Given the description of an element on the screen output the (x, y) to click on. 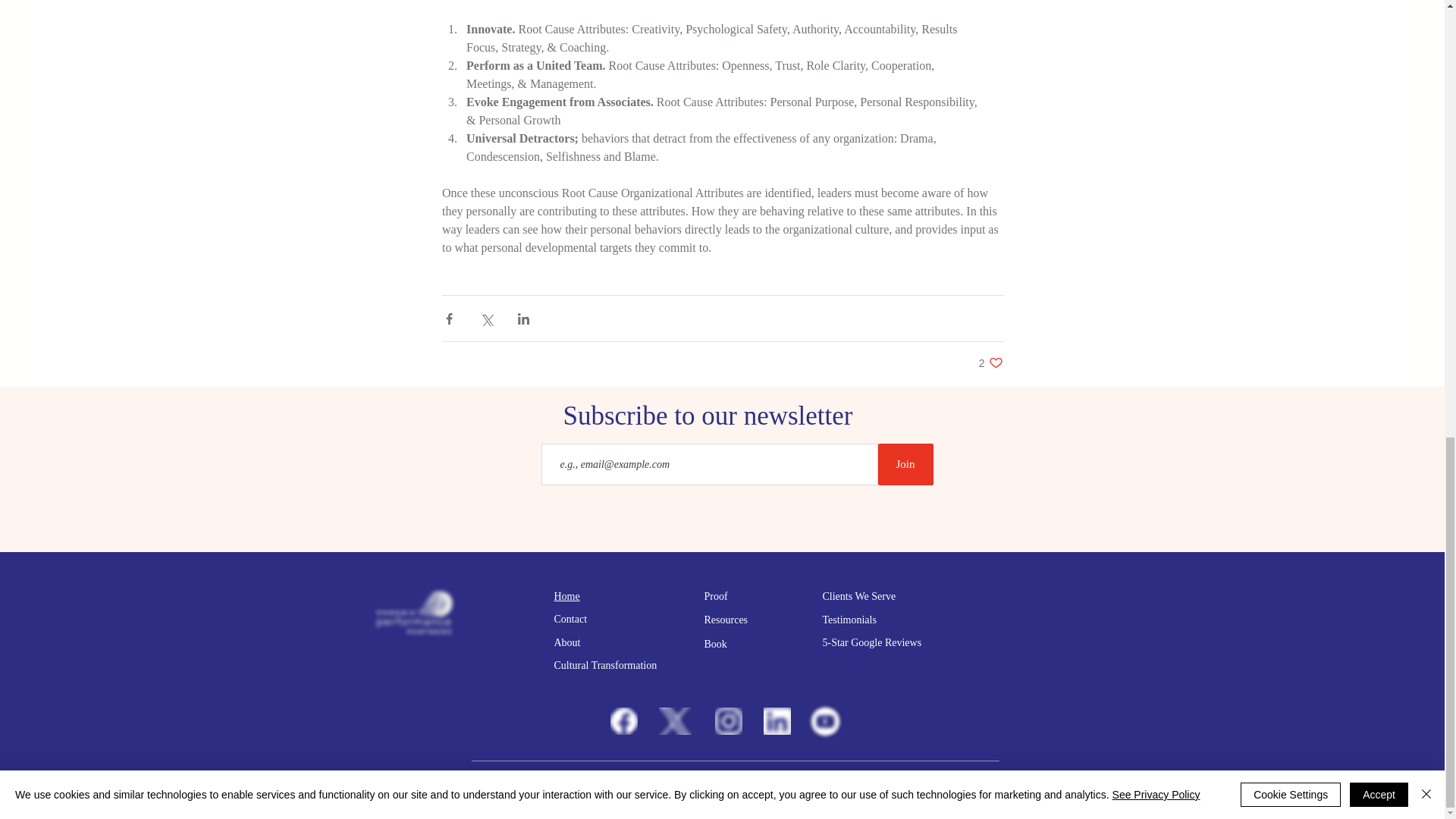
Book (714, 644)
5-Star Google Reviews (871, 642)
Proof (714, 595)
Contact (569, 618)
Cultural Transformation (990, 362)
Clients We Serve (604, 665)
Home (858, 595)
Join (566, 595)
Resources (905, 464)
Testimonials (725, 619)
About (849, 619)
